Given the description of an element on the screen output the (x, y) to click on. 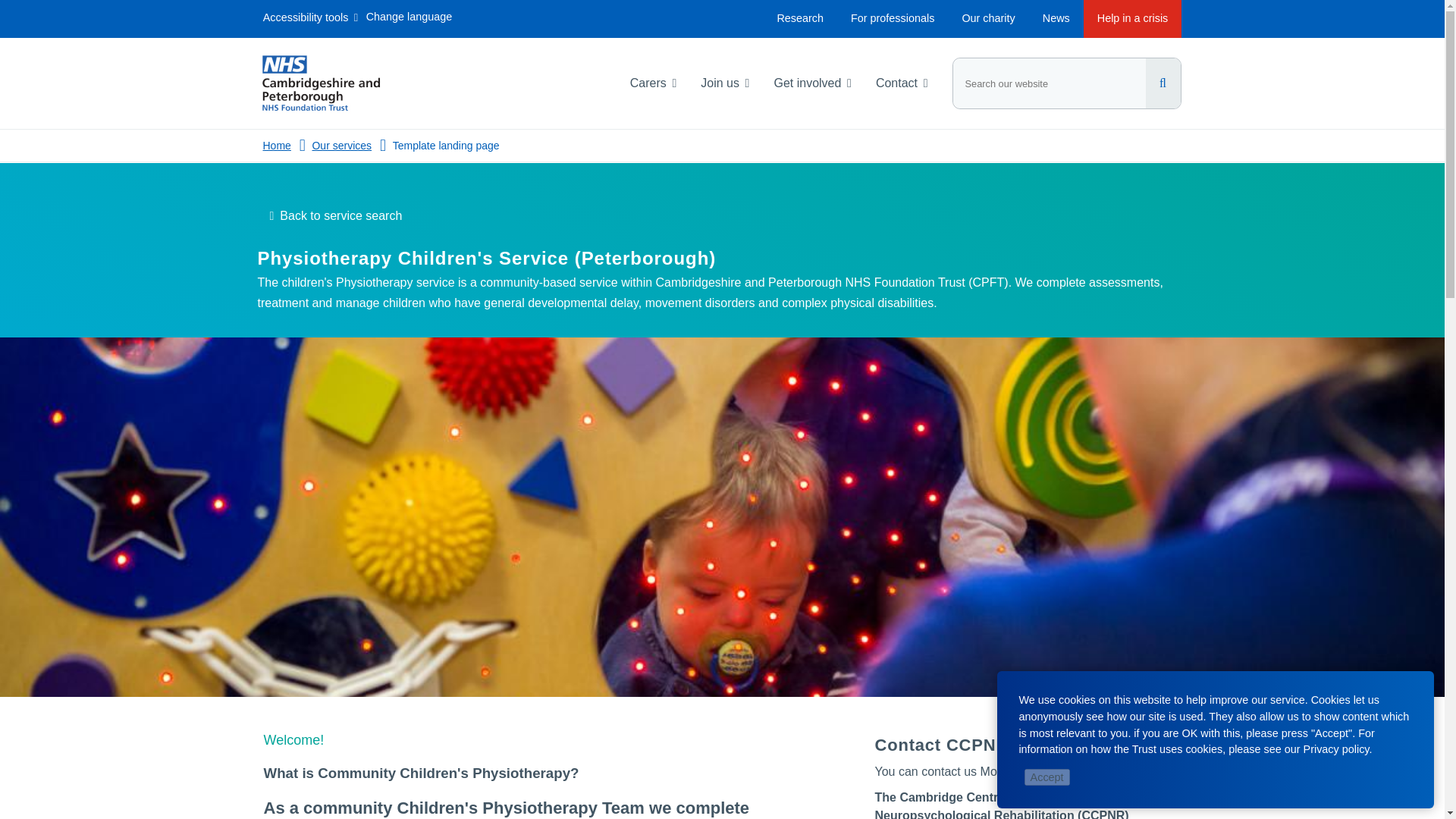
search (1065, 83)
News (1056, 18)
Search (1161, 83)
Privacy policy (1336, 748)
Accessibility tools (310, 19)
Accept (1047, 777)
Help in a crisis (1133, 18)
Research (800, 18)
Our charity (987, 18)
For professionals (892, 18)
Change language (409, 19)
